Given the description of an element on the screen output the (x, y) to click on. 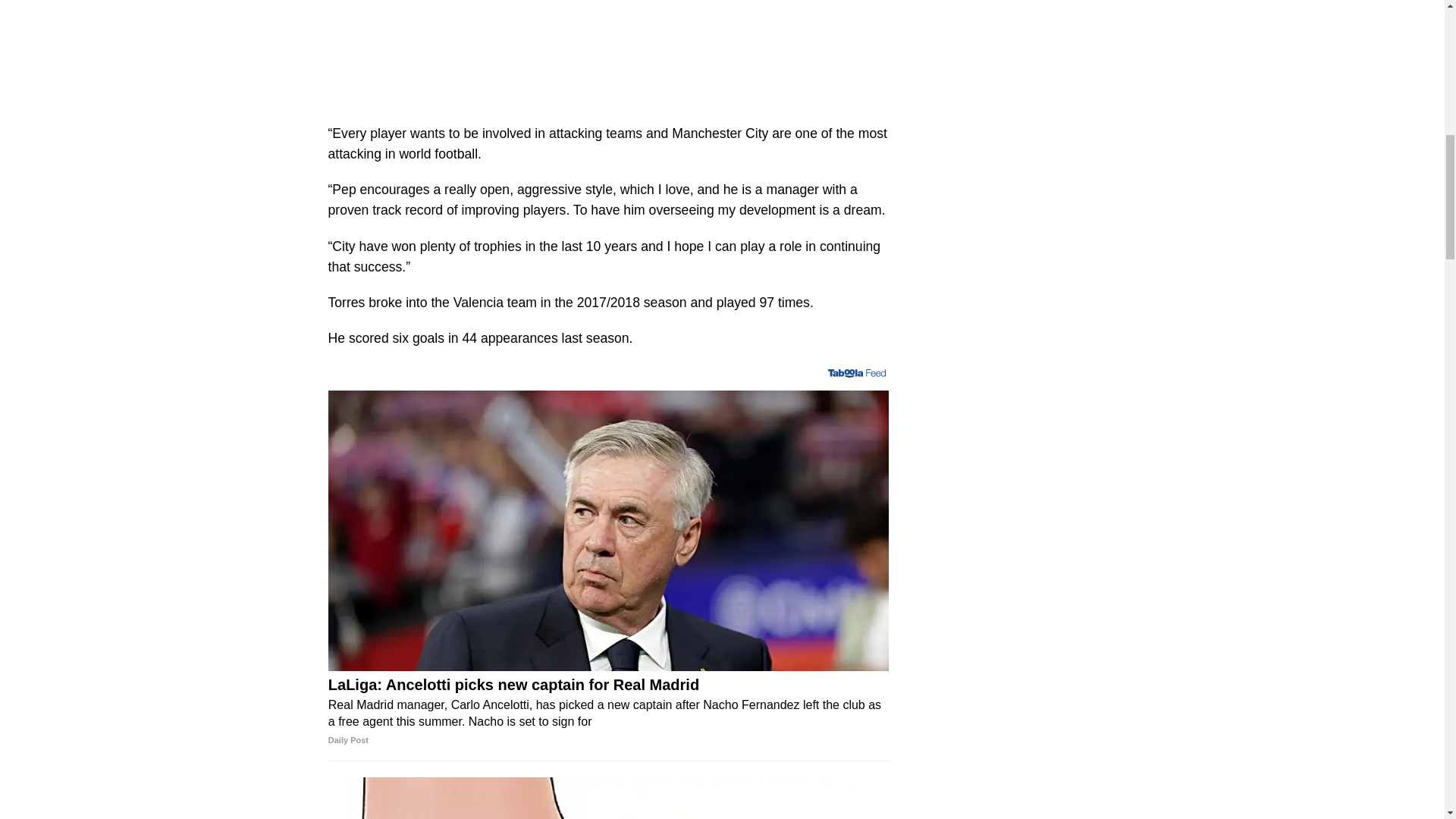
LaLiga: Ancelotti picks new captain for Real Madrid (609, 712)
